Given the description of an element on the screen output the (x, y) to click on. 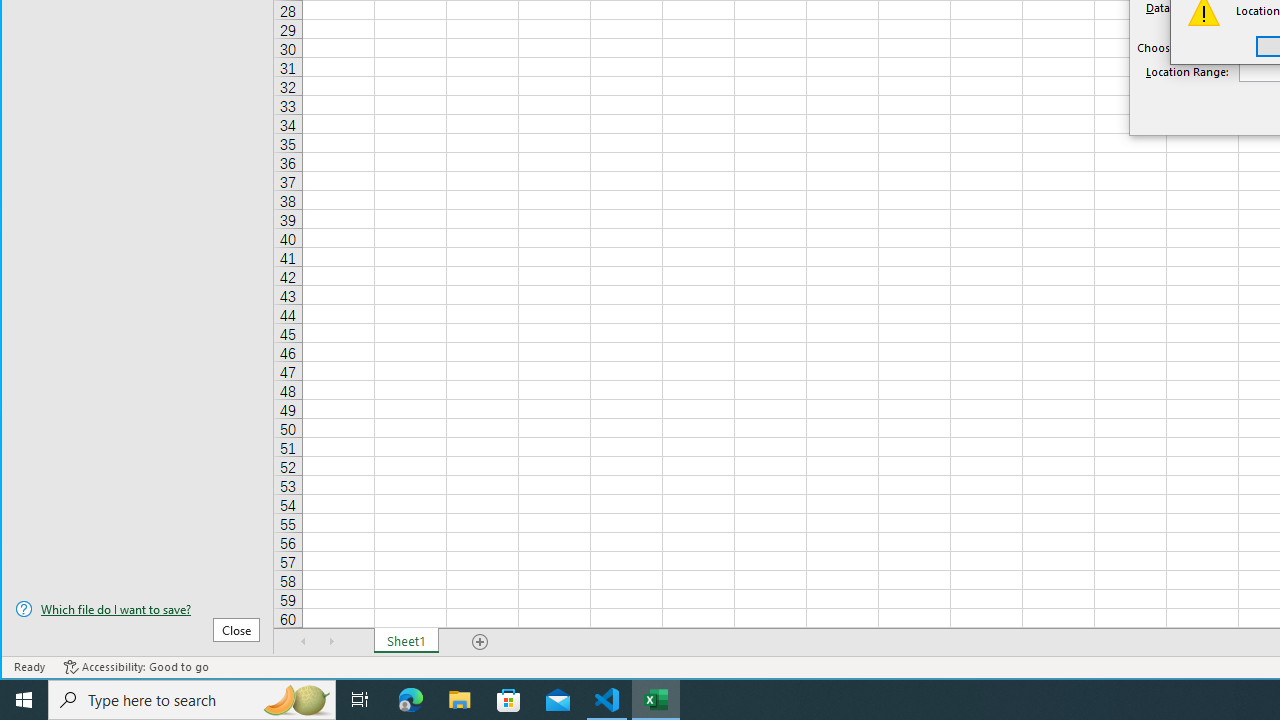
Excel - 1 running window (656, 699)
